Given the description of an element on the screen output the (x, y) to click on. 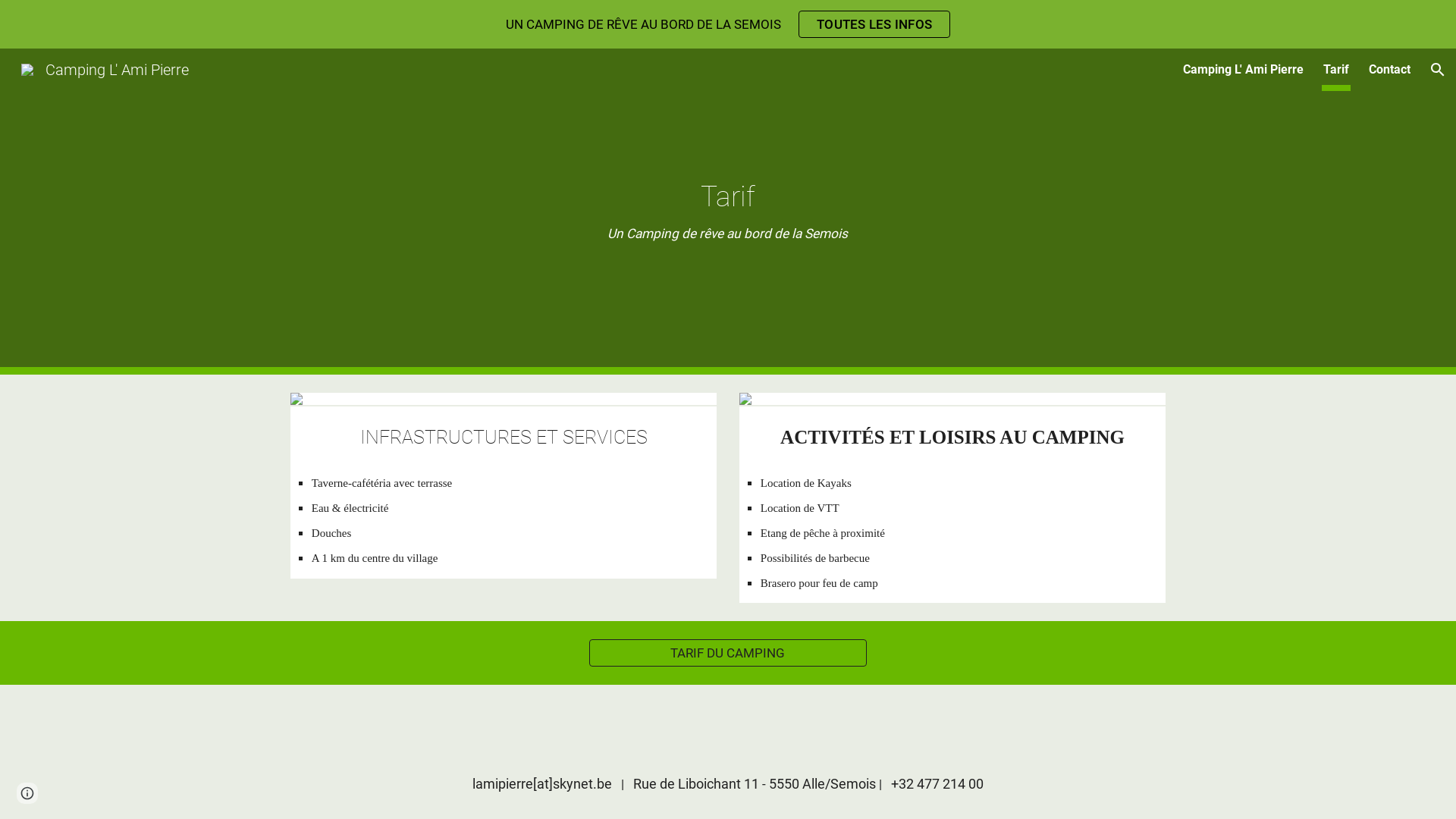
Camping L' Ami Pierre Element type: text (104, 68)
TARIF DU CAMPING Element type: text (727, 652)
TOUTES LES INFOS Element type: text (874, 24)
Contact Element type: text (1389, 69)
Camping L' Ami Pierre Element type: text (1243, 69)
Tarif Element type: text (1336, 69)
